Given the description of an element on the screen output the (x, y) to click on. 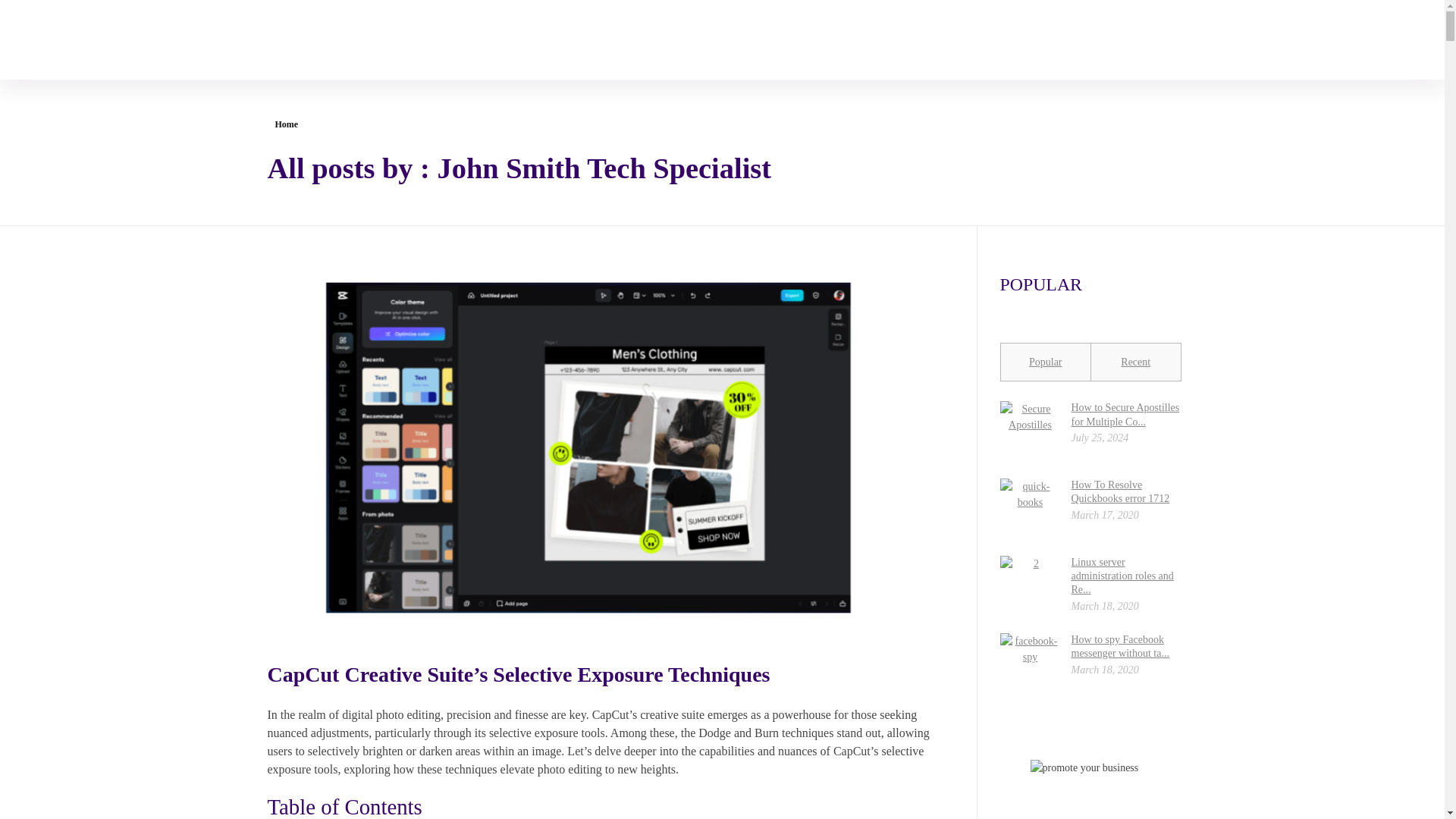
Home (286, 123)
Home (286, 123)
